Given the description of an element on the screen output the (x, y) to click on. 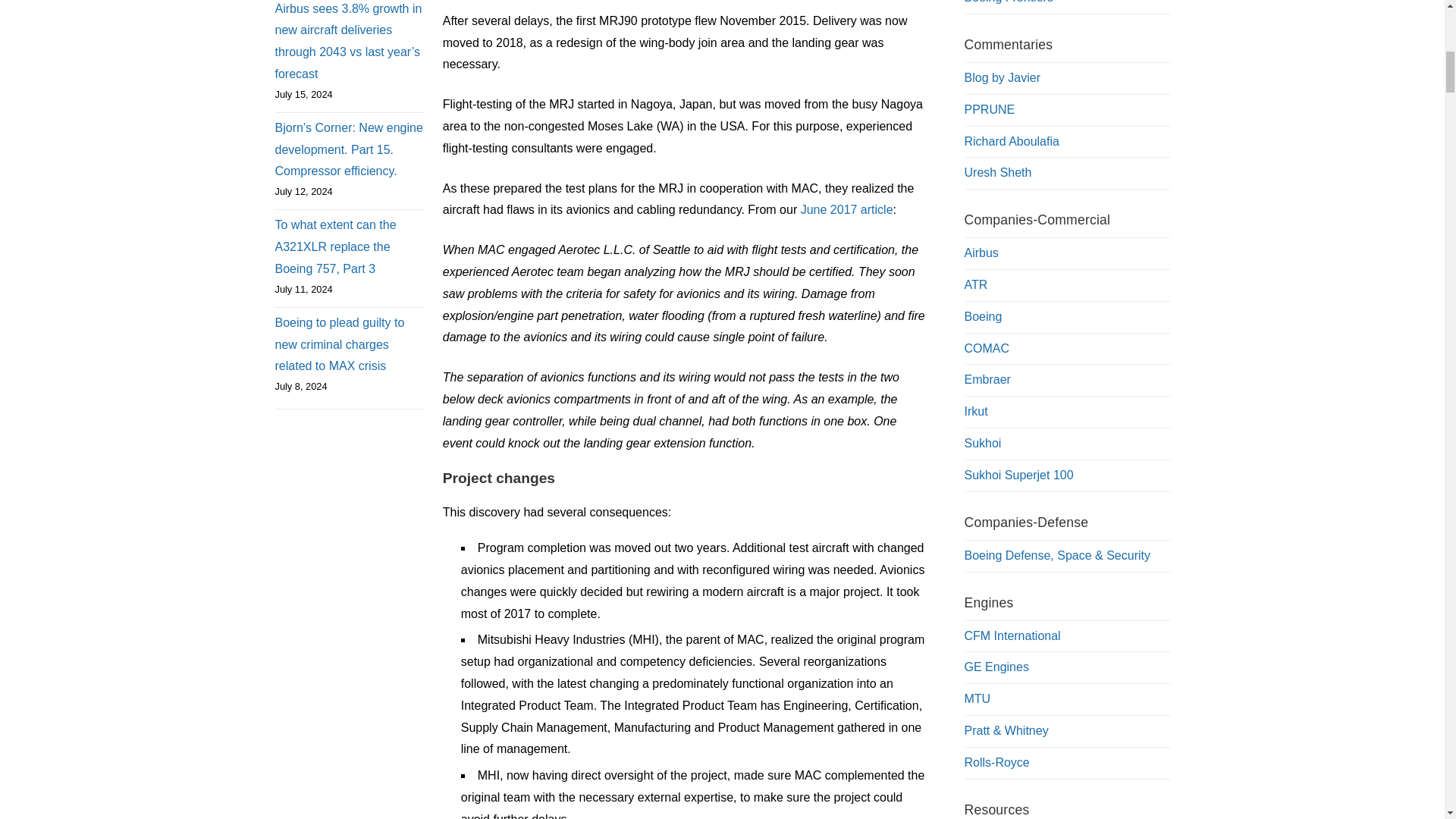
June 2017 article (846, 209)
